Given the description of an element on the screen output the (x, y) to click on. 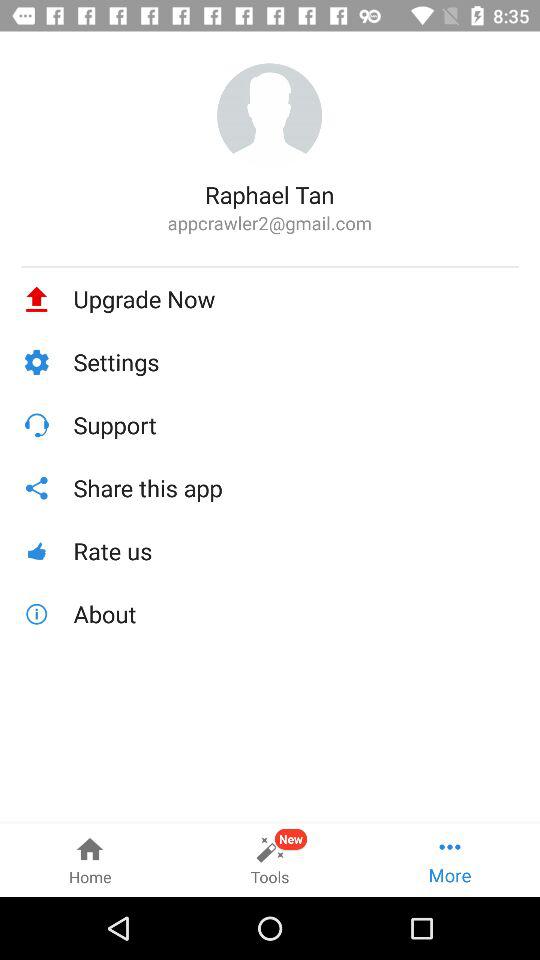
select the icon below support icon (296, 487)
